Given the description of an element on the screen output the (x, y) to click on. 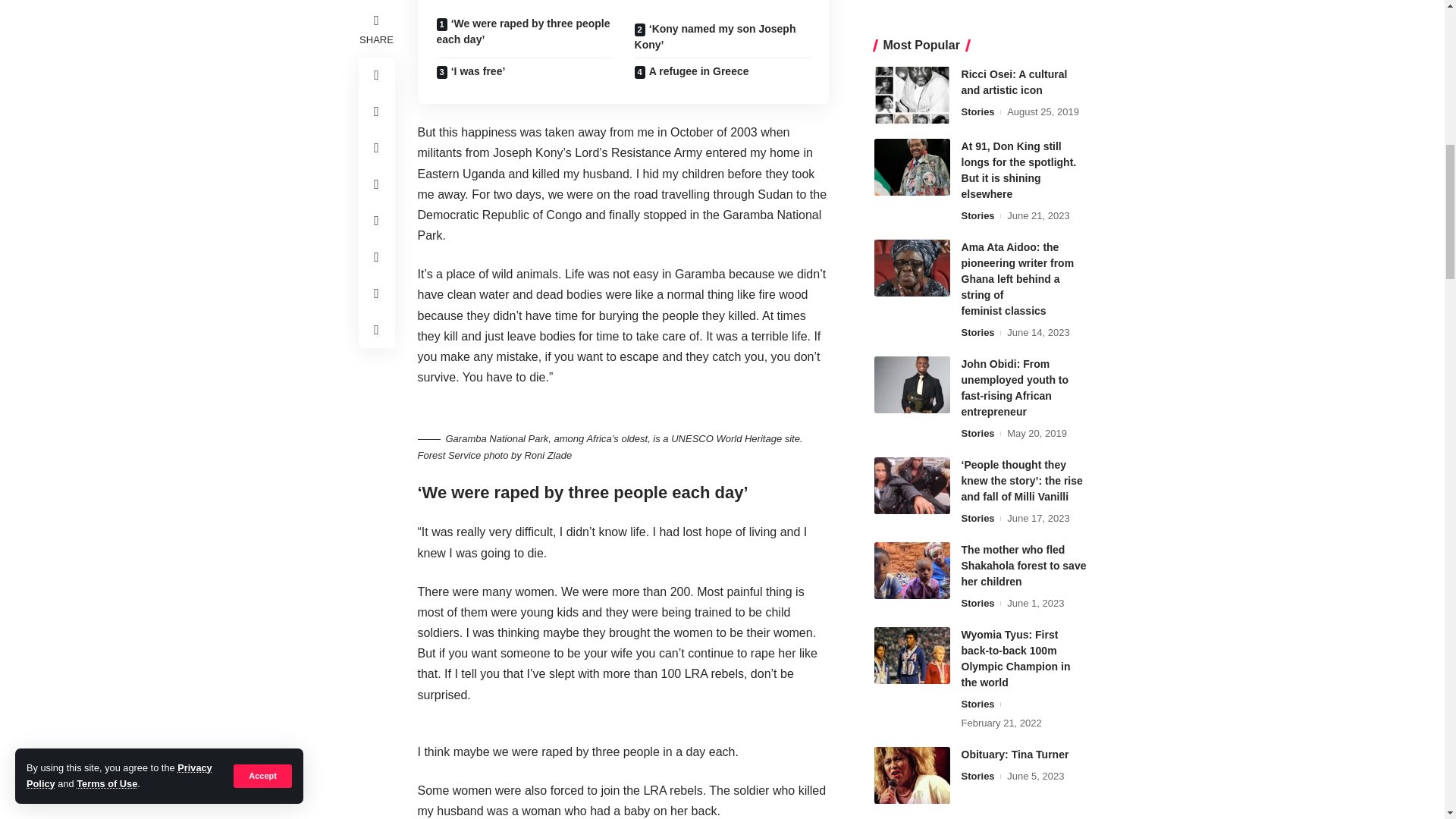
A refugee in Greece (722, 71)
The mother who fled Shakahola forest to save her children (912, 5)
